Given the description of an element on the screen output the (x, y) to click on. 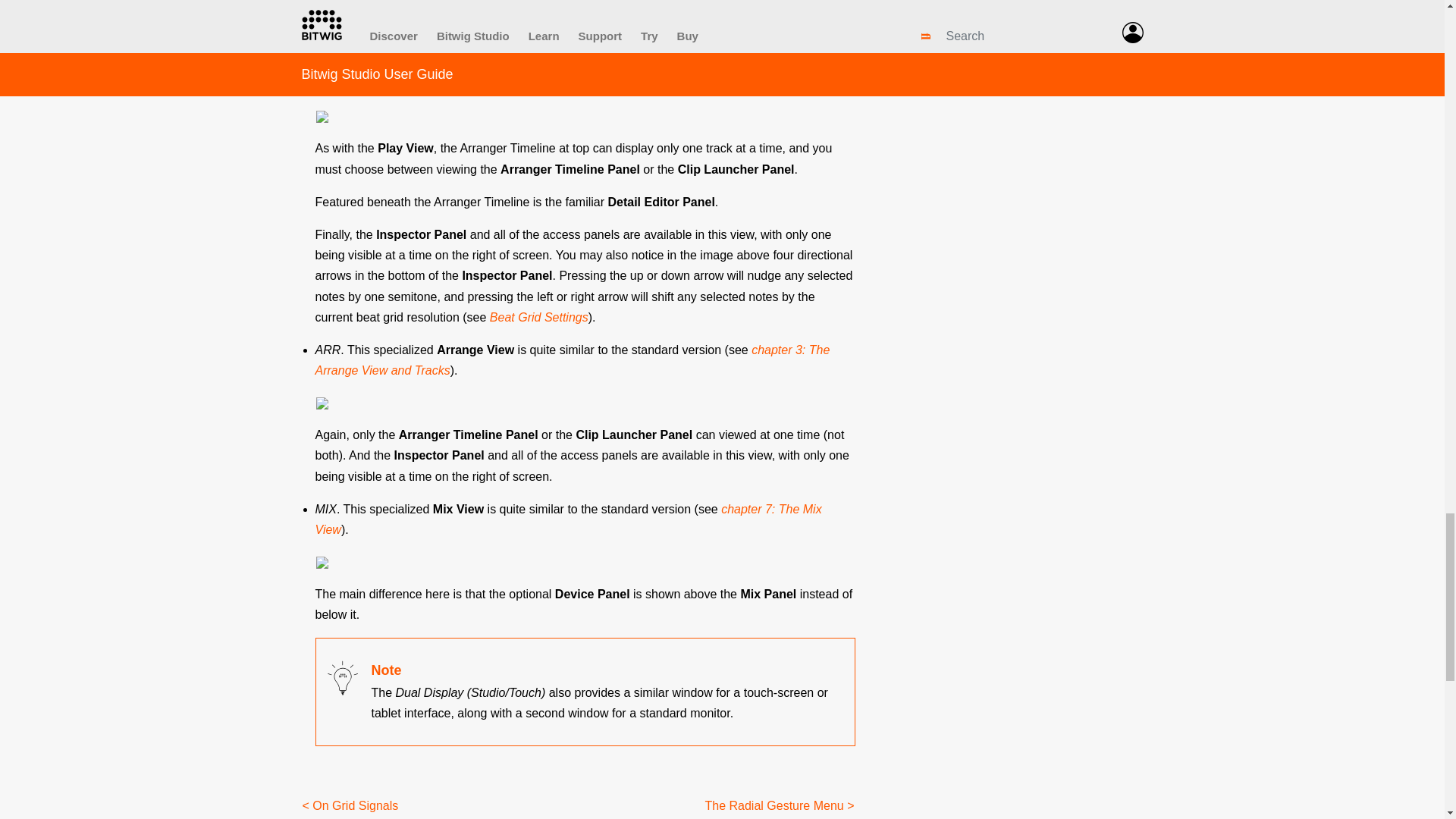
Beat Grid Settings (538, 317)
The Edit View (737, 83)
chapter 3: The Arrange View and Tracks (572, 359)
Pressure Expressions (401, 2)
Pressure Expressions (401, 2)
Beat Grid Settings (538, 317)
The Edit View (737, 83)
chapter 7: The Mix View (568, 519)
